Given the description of an element on the screen output the (x, y) to click on. 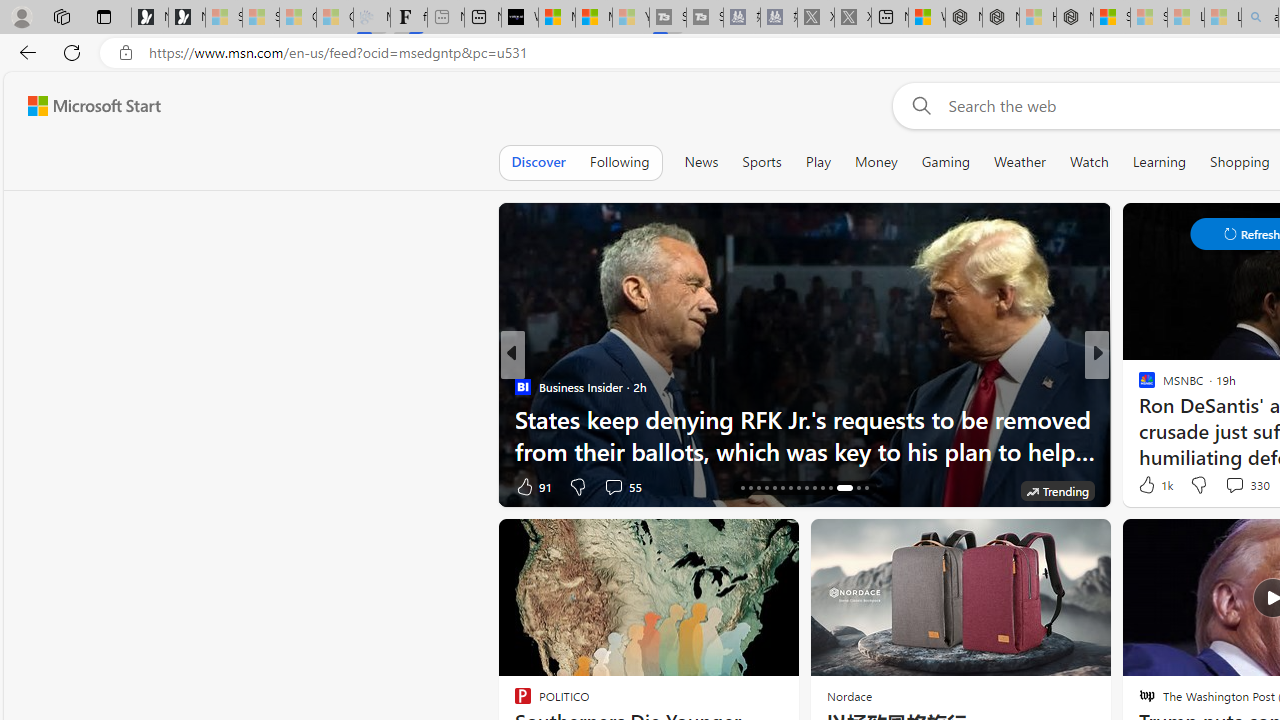
View comments 266 Comment (11, 485)
Weather (1020, 161)
Money (876, 162)
8 Like (1145, 486)
Sports (761, 162)
